Given the description of an element on the screen output the (x, y) to click on. 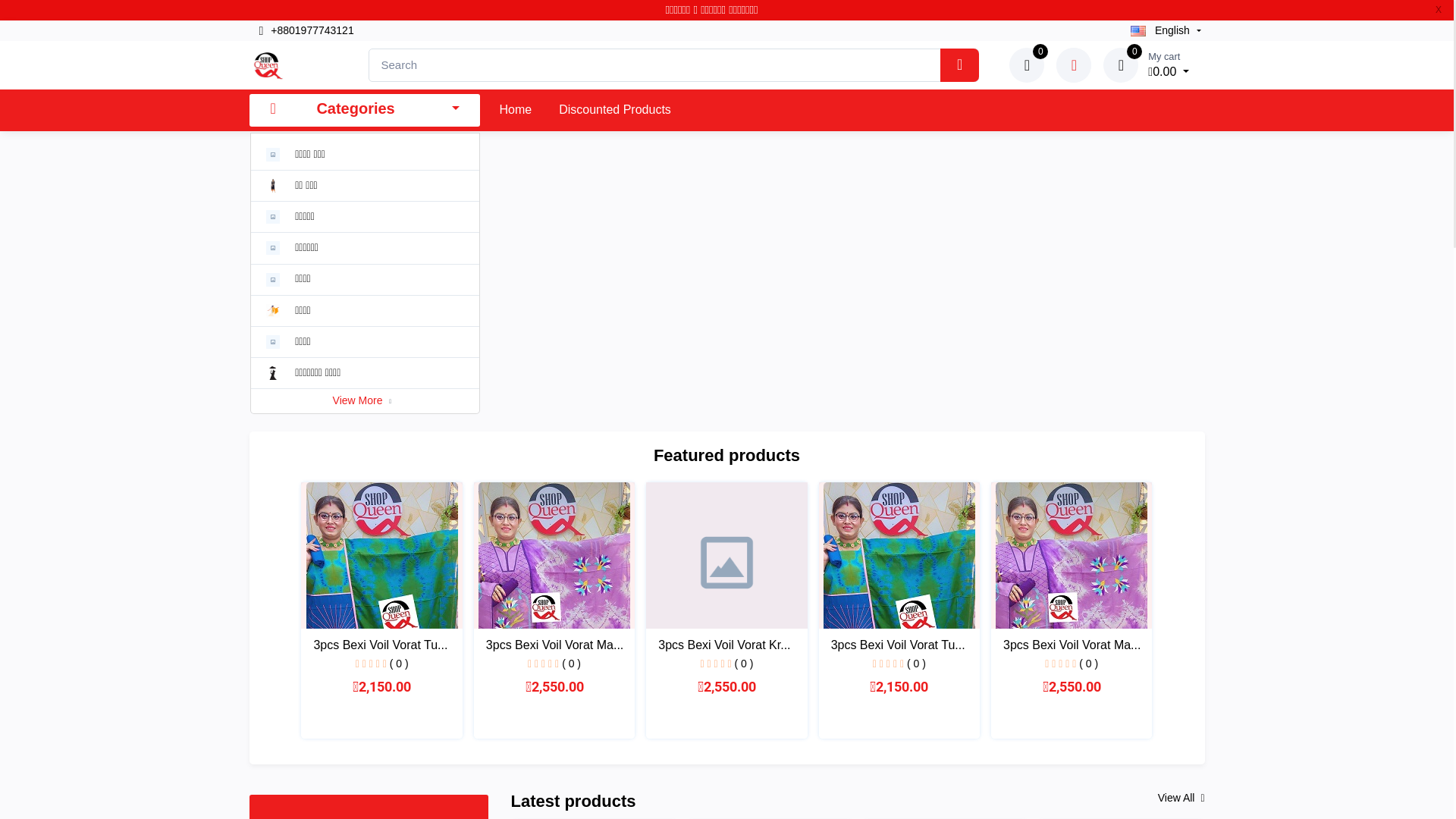
Home Element type: text (515, 107)
Categories Element type: text (363, 110)
3pcs Bexi Voil Vorat Ma... Element type: text (1071, 644)
Shoq Queen FB Live Element type: hover (669, 273)
3pcs Bexi Voil Vorat Ma... Element type: text (554, 644)
0 Element type: text (1120, 64)
Discounted Products Element type: text (614, 107)
3pcs Bexi Voil Vorat Tu... Element type: text (898, 644)
View All Element type: text (1179, 797)
3pcs Bexi Voil Vorat Tu... Element type: text (380, 644)
View More Element type: text (430, 401)
3pcs Bexi Voil Vorat Kr... Element type: text (724, 644)
English Element type: text (1165, 30)
Shoq Queen Youtube Element type: hover (1026, 273)
+8801977743121 Element type: text (306, 30)
X Element type: text (1438, 9)
0 Element type: text (1026, 64)
